Given the description of an element on the screen output the (x, y) to click on. 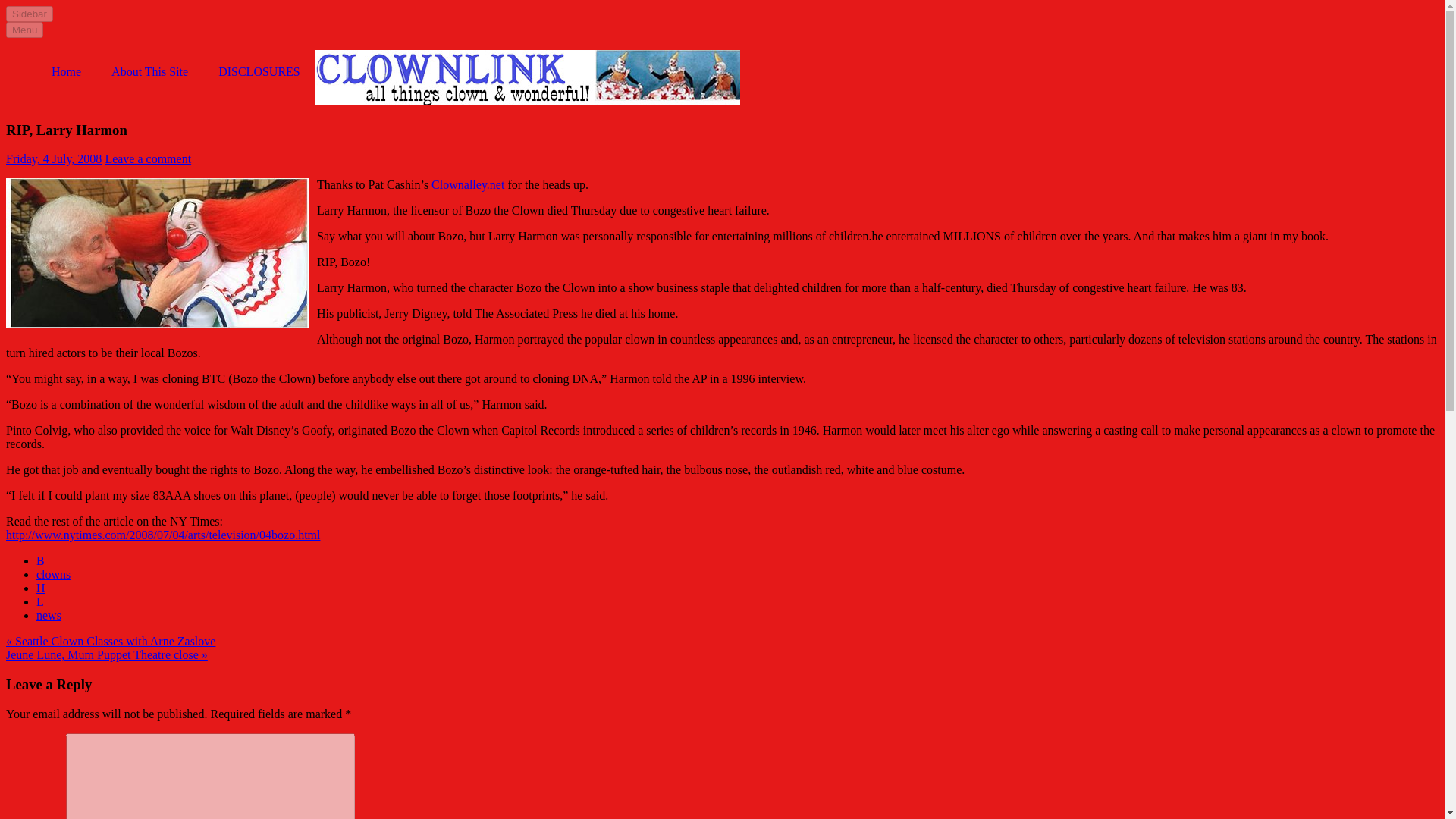
H (40, 587)
About This Site (149, 71)
L (39, 601)
Sidebar (28, 13)
Leave a comment (147, 158)
clowns (52, 574)
6:03 pm (53, 158)
Home (65, 71)
B (40, 560)
Friday, 4 July, 2008 (53, 158)
Clownalley.net (468, 184)
news (48, 615)
DISCLOSURES (258, 71)
Menu (24, 29)
